Given the description of an element on the screen output the (x, y) to click on. 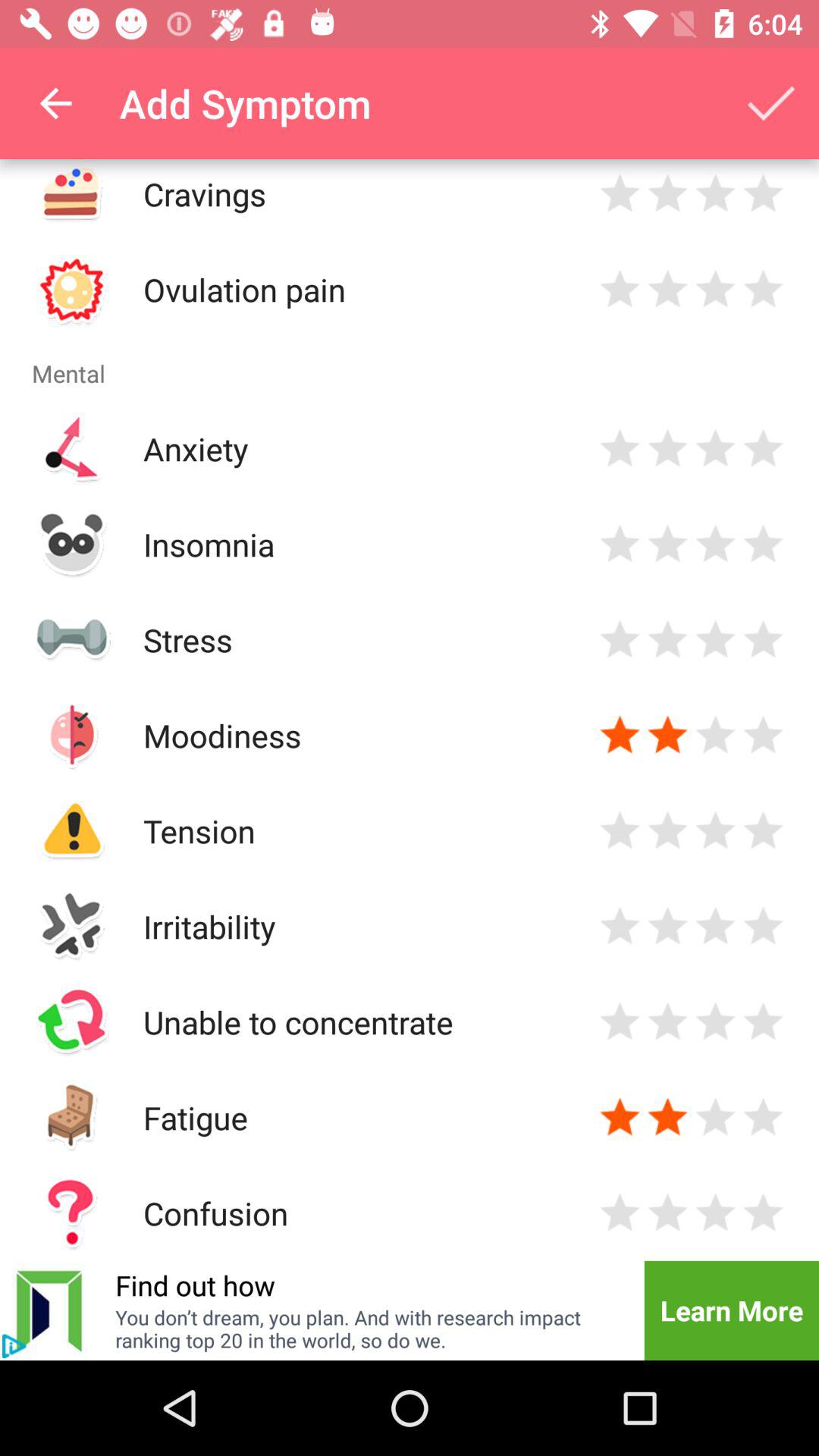
add three stars to insomnia symptom (715, 544)
